Given the description of an element on the screen output the (x, y) to click on. 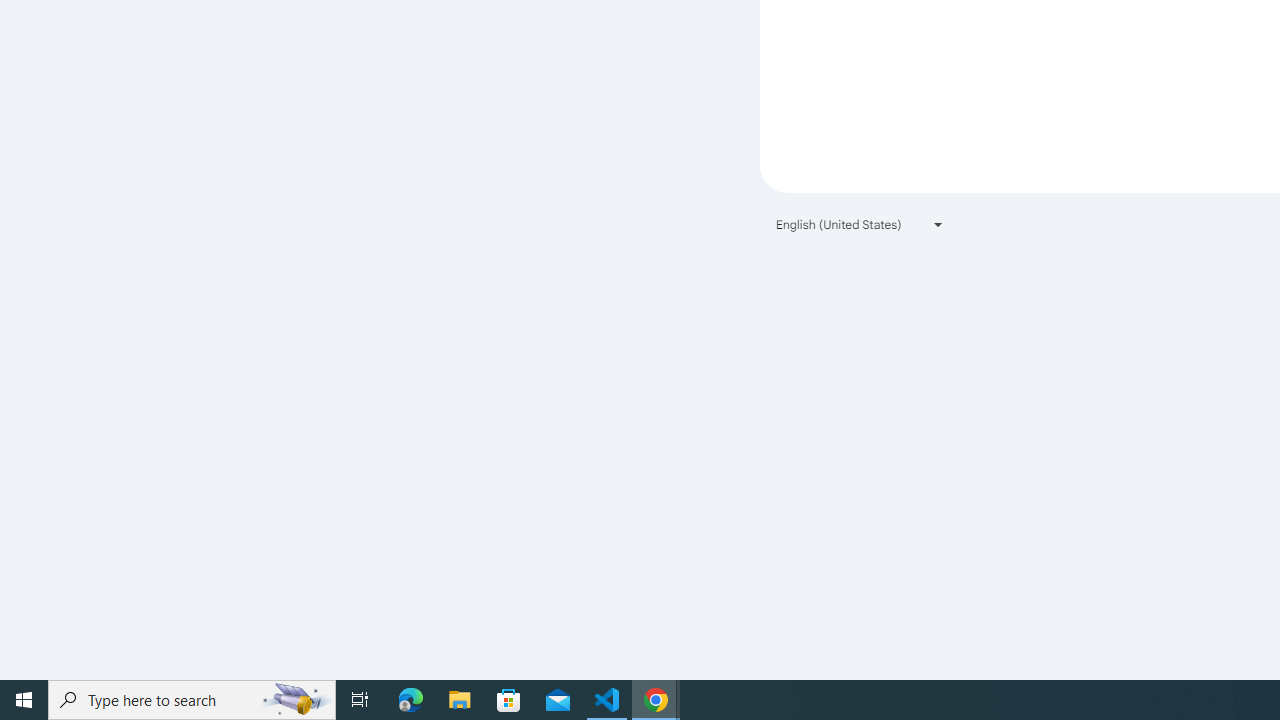
English (United States) (860, 224)
